Given the description of an element on the screen output the (x, y) to click on. 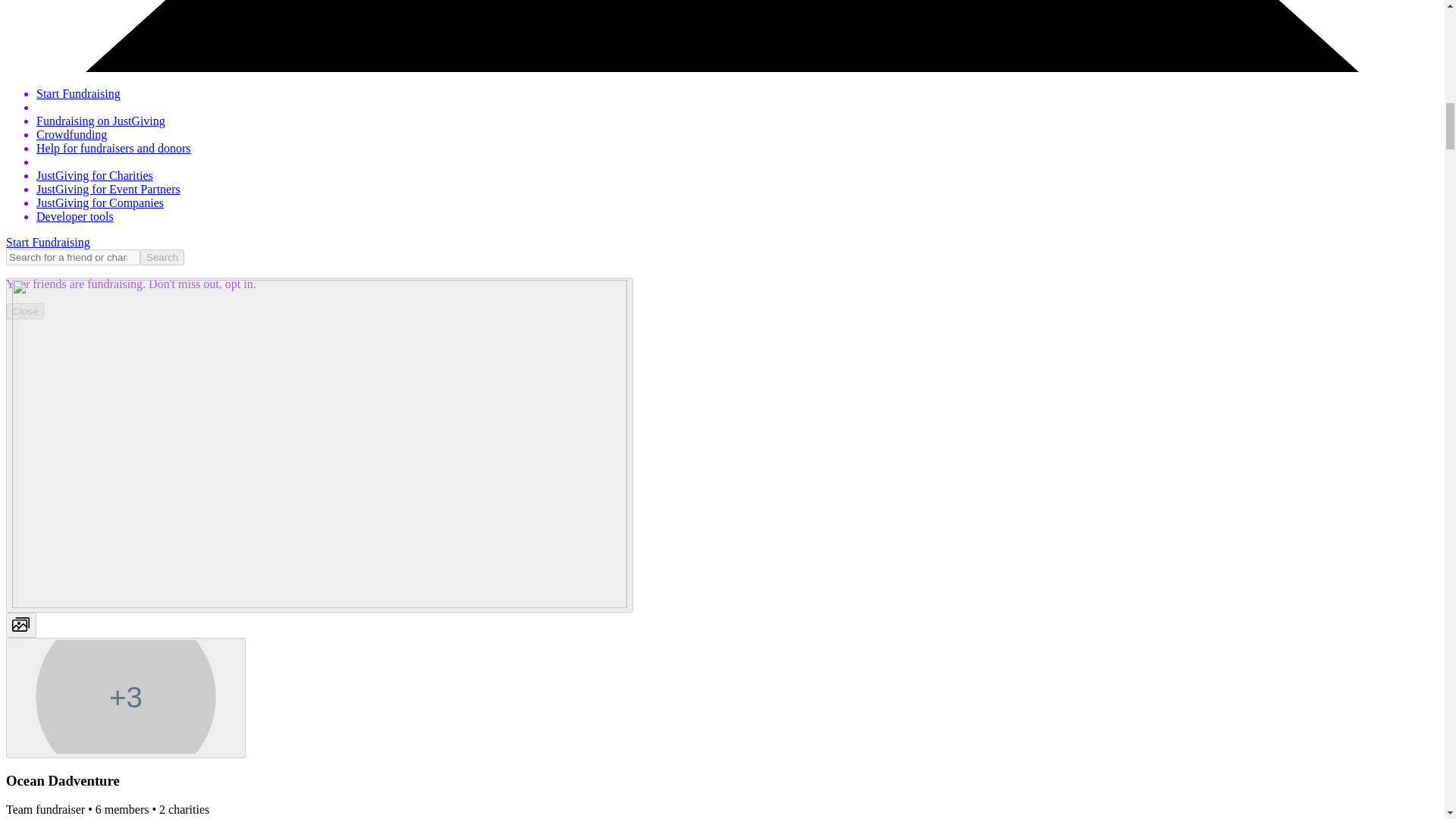
Developer tools (74, 215)
opt in. (239, 283)
JustGiving for Companies (99, 202)
Help for fundraisers and donors (113, 147)
Close (24, 311)
Search (161, 257)
Crowdfunding (71, 133)
JustGiving for Charities (94, 174)
Search (161, 257)
Search (161, 257)
Start Fundraising (47, 241)
Start Fundraising (78, 92)
Fundraising on JustGiving (100, 120)
JustGiving for Event Partners (108, 188)
